Given the description of an element on the screen output the (x, y) to click on. 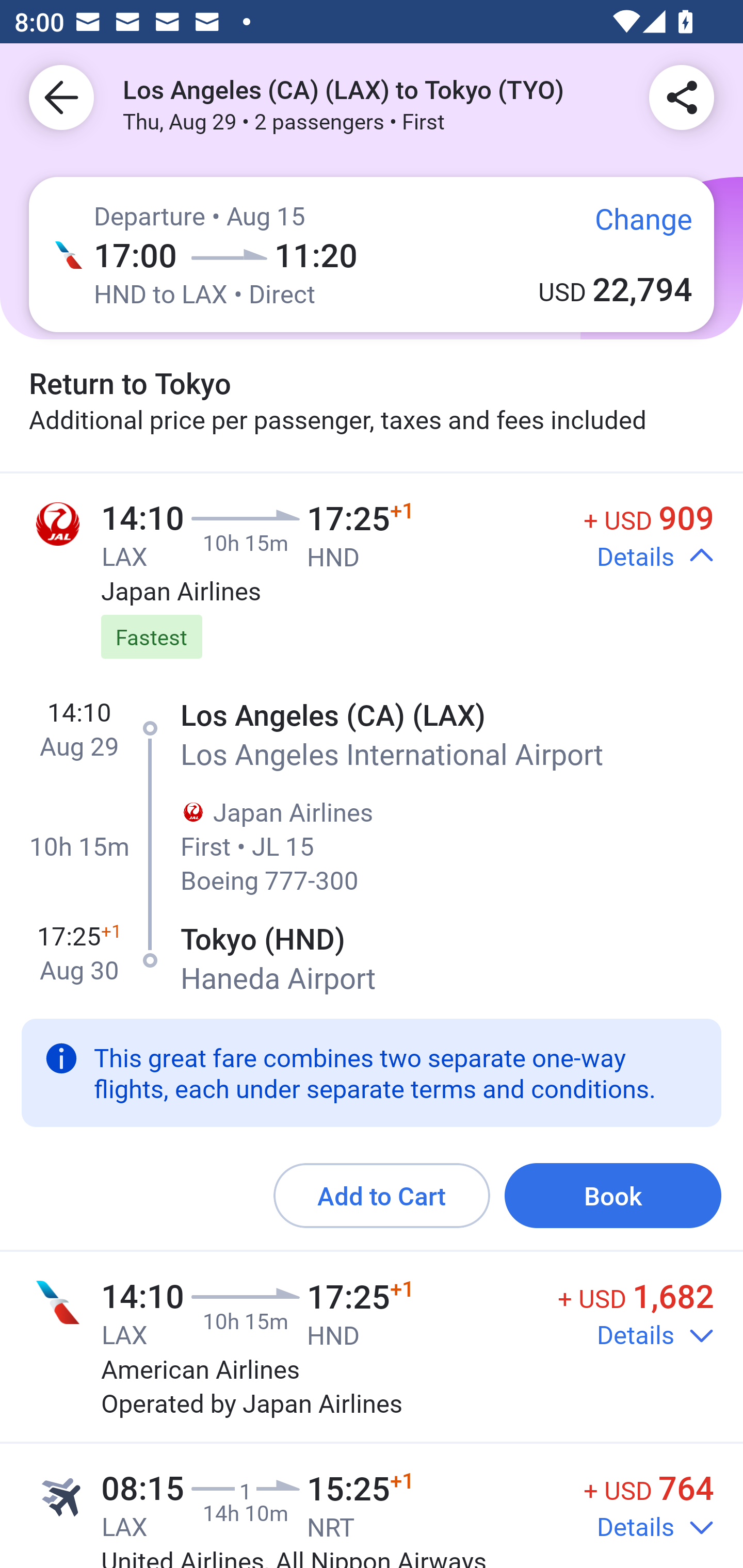
Change (629, 225)
Add to Cart (381, 1195)
Book (612, 1195)
